Given the description of an element on the screen output the (x, y) to click on. 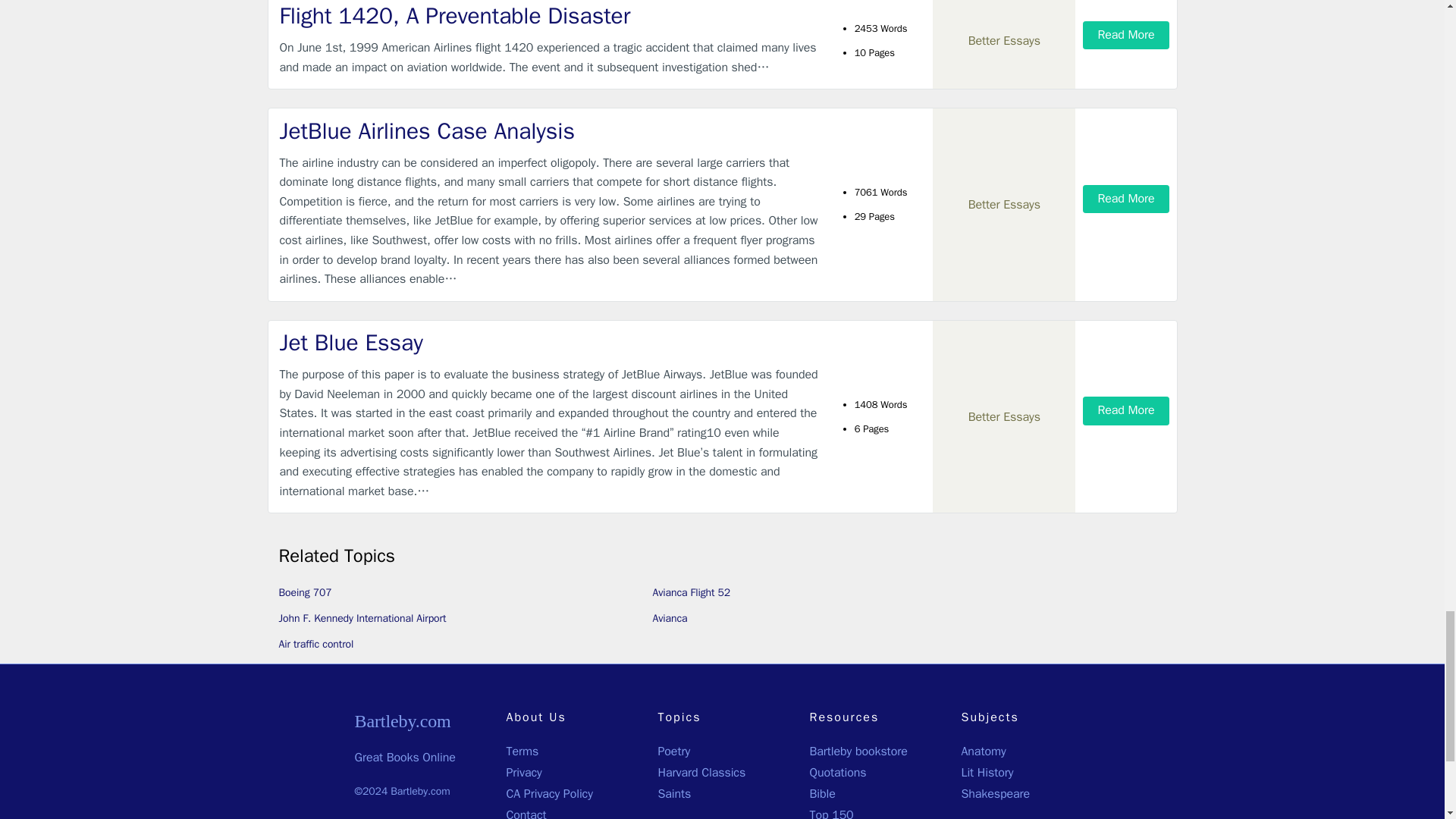
Avianca Flight 52 (691, 592)
Air traffic control (316, 644)
Avianca (669, 617)
Boeing 707 (305, 592)
John F. Kennedy International Airport (362, 617)
